Given the description of an element on the screen output the (x, y) to click on. 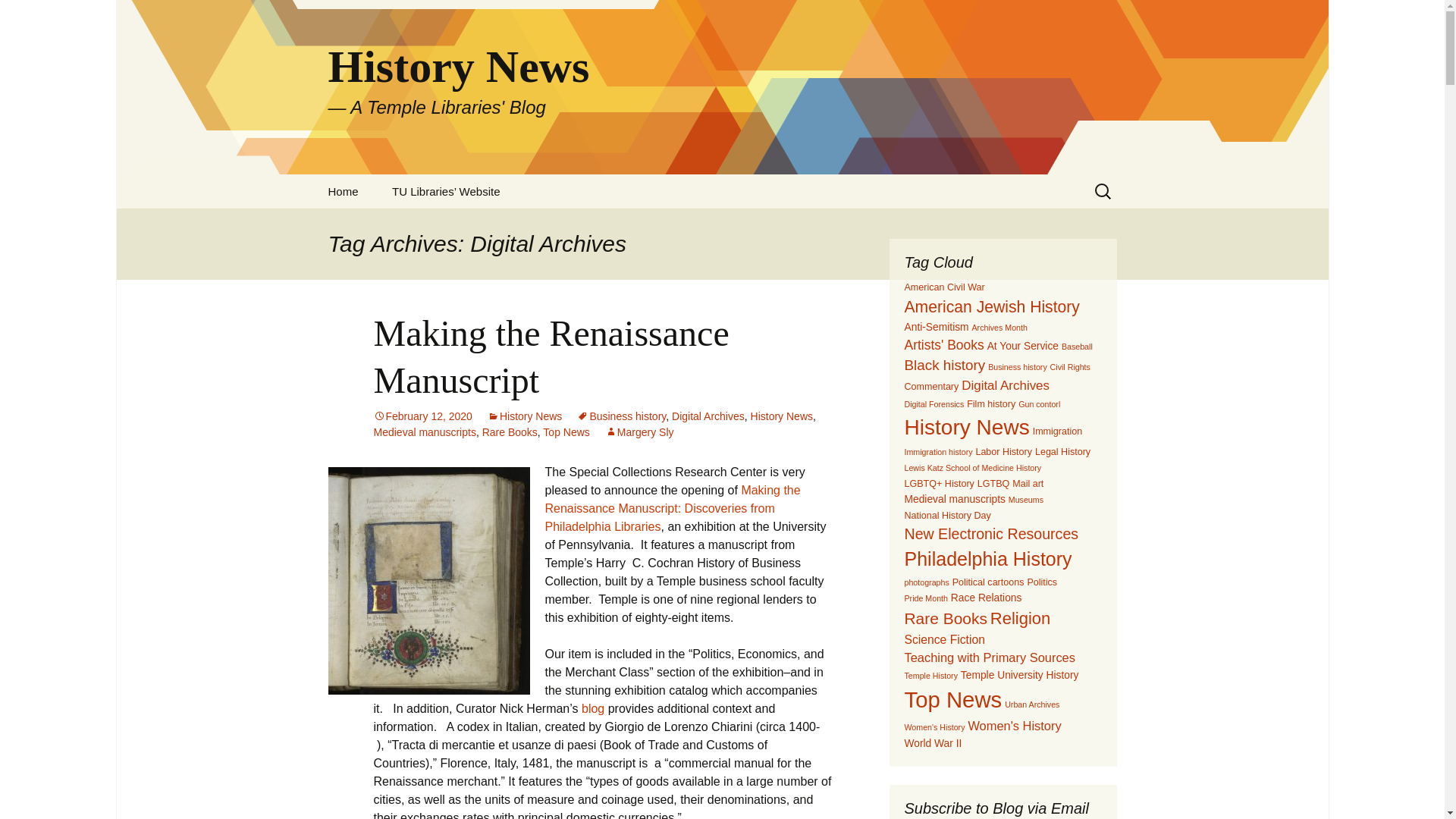
View all posts by Margery Sly (639, 431)
History News (781, 416)
blog (592, 707)
Rare Books (509, 431)
February 12, 2020 (421, 416)
Home (342, 191)
Making the Renaissance Manuscript (550, 356)
Permalink to Making the Renaissance Manuscript (421, 416)
Medieval manuscripts (424, 431)
History News (524, 416)
Search (18, 15)
Top News (566, 431)
Digital Archives (707, 416)
